Given the description of an element on the screen output the (x, y) to click on. 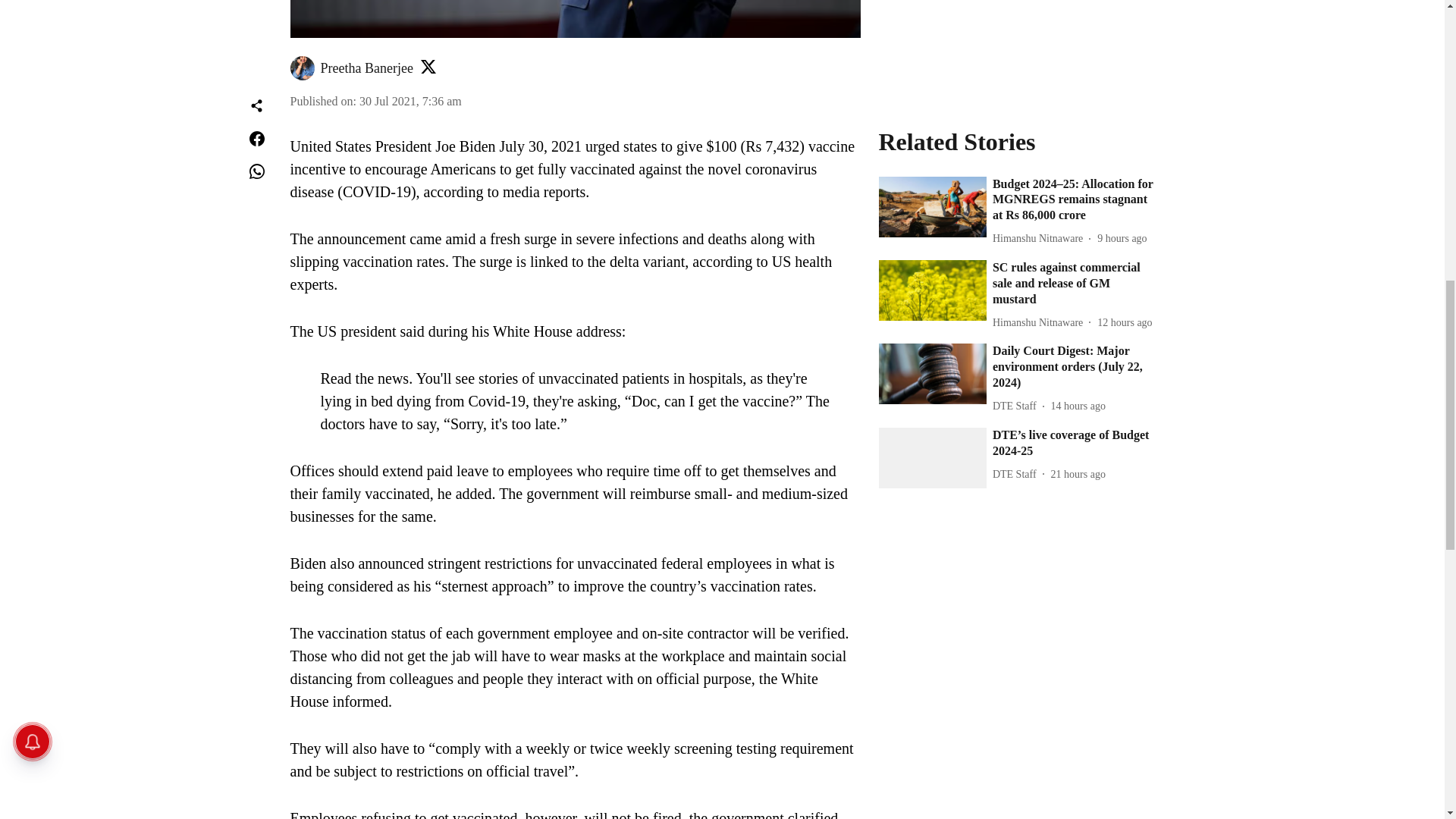
2021-07-29 23:36 (410, 101)
2024-07-23 09:50 (1078, 6)
Preetha Banerjee (366, 68)
2024-07-23 02:29 (1078, 73)
